Given the description of an element on the screen output the (x, y) to click on. 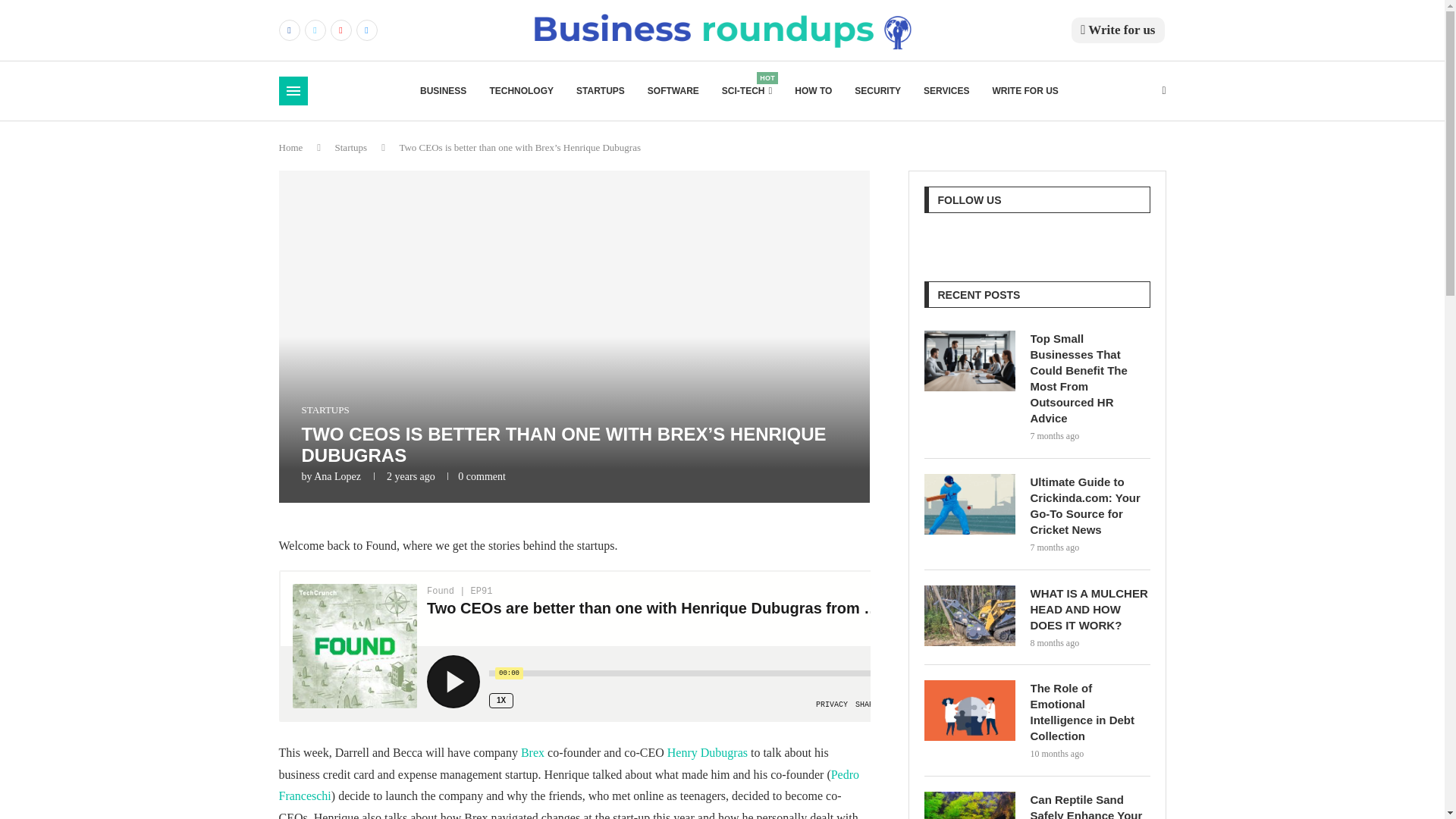
SECURITY (877, 90)
TECHNOLOGY (521, 90)
Write for us (1117, 30)
The Role of Emotional Intelligence in Debt Collection (1089, 711)
WRITE FOR US (1025, 90)
STARTUPS (600, 90)
The Role of Emotional Intelligence in Debt Collection (968, 710)
WHAT IS A MULCHER HEAD AND HOW DOES IT WORK? (1089, 609)
SERVICES (946, 90)
BUSINESS (442, 90)
WHAT IS A MULCHER HEAD AND HOW DOES IT WORK? (746, 90)
SOFTWARE (968, 615)
